Given the description of an element on the screen output the (x, y) to click on. 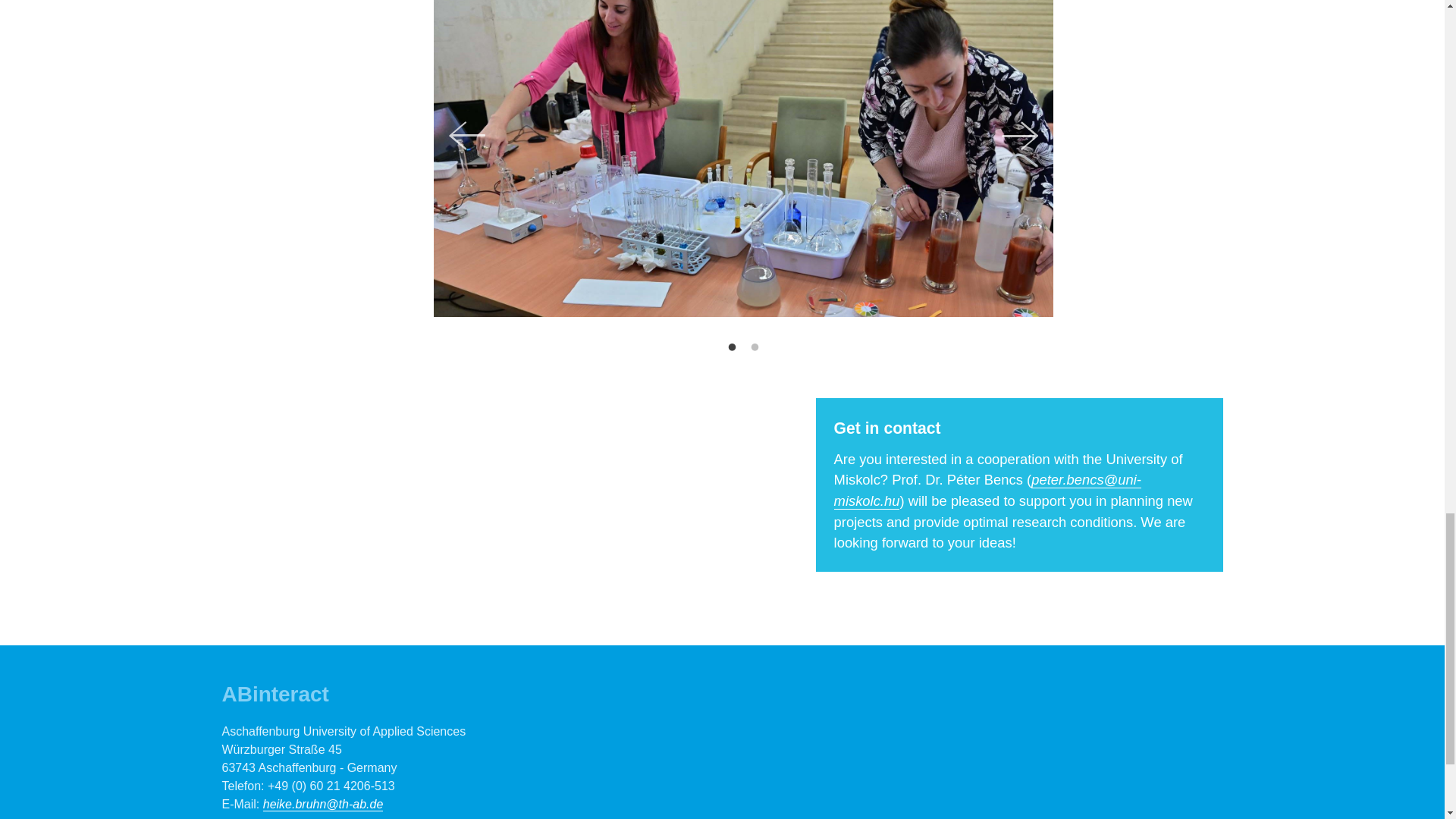
1 (731, 347)
Previous (466, 135)
Next (1019, 135)
2 (753, 347)
